Given the description of an element on the screen output the (x, y) to click on. 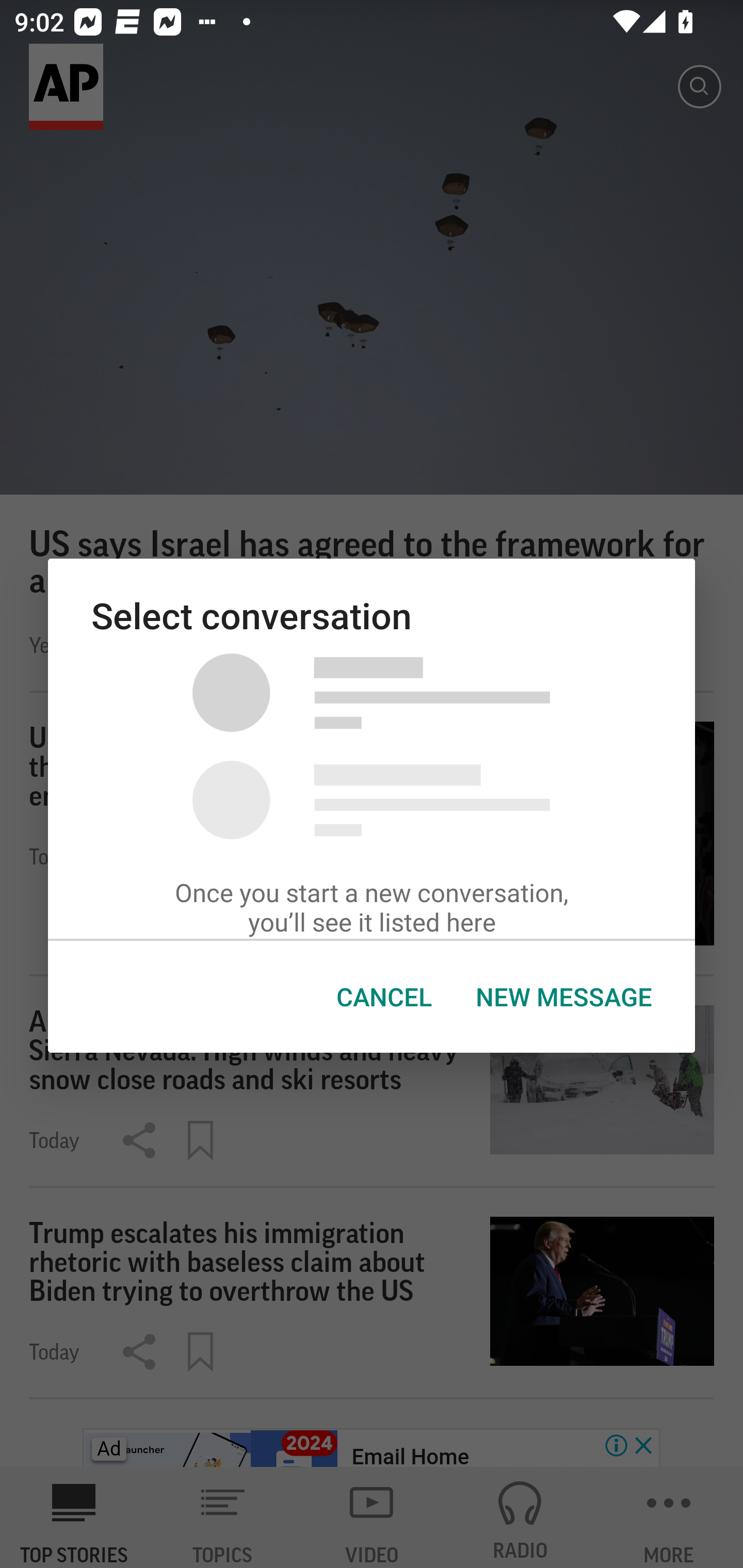
CANCEL (384, 996)
NEW MESSAGE (563, 996)
